Given the description of an element on the screen output the (x, y) to click on. 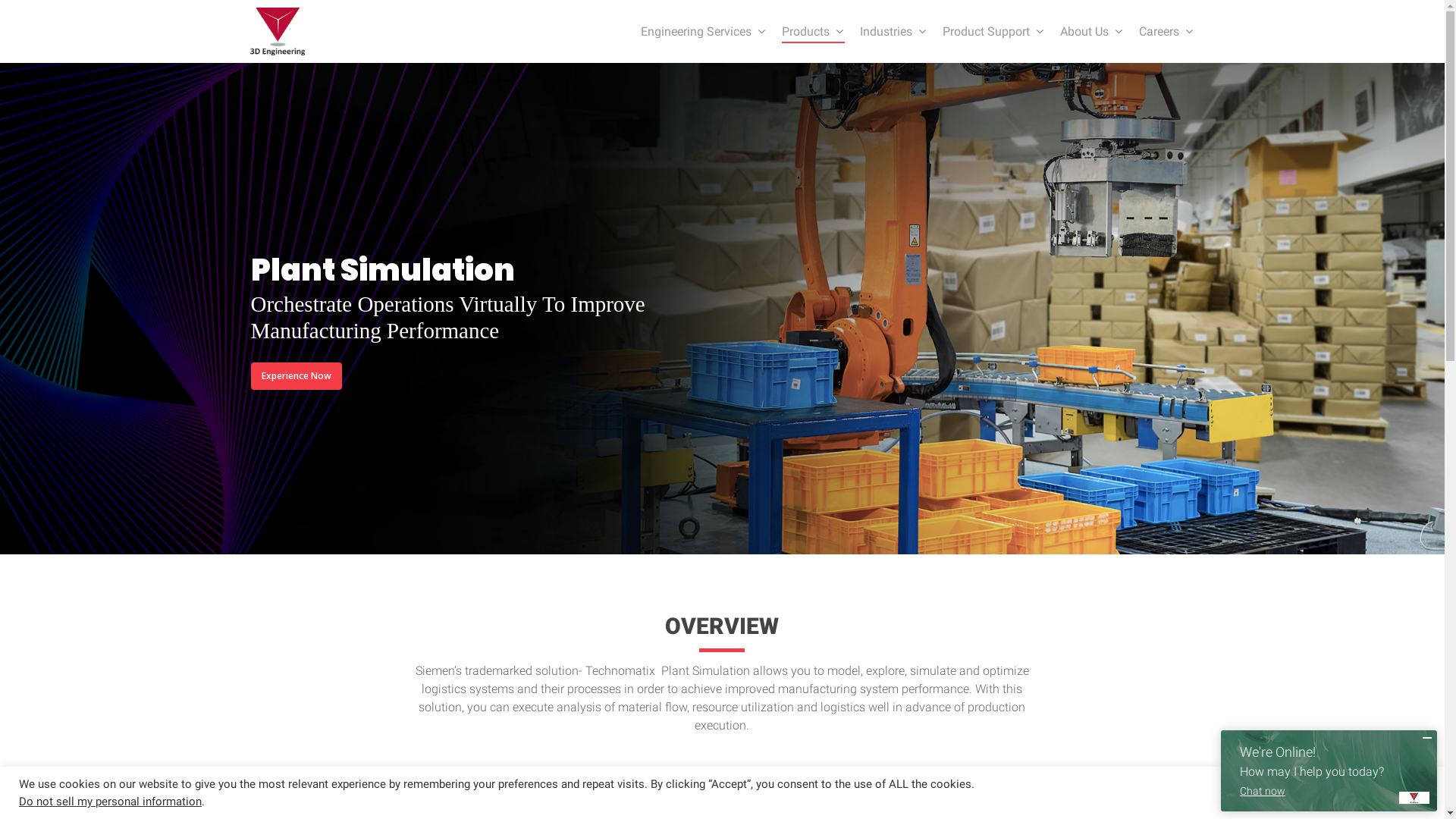
Products Element type: text (812, 30)
Cookie Settings Element type: text (1322, 792)
Product Support Element type: text (993, 30)
Engineering Services Element type: text (703, 30)
Experience Now Element type: text (295, 375)
Industries Element type: text (893, 30)
Careers Element type: text (1166, 30)
Accept Element type: text (1401, 792)
Do not sell my personal information Element type: text (109, 801)
About Us Element type: text (1091, 30)
